Given the description of an element on the screen output the (x, y) to click on. 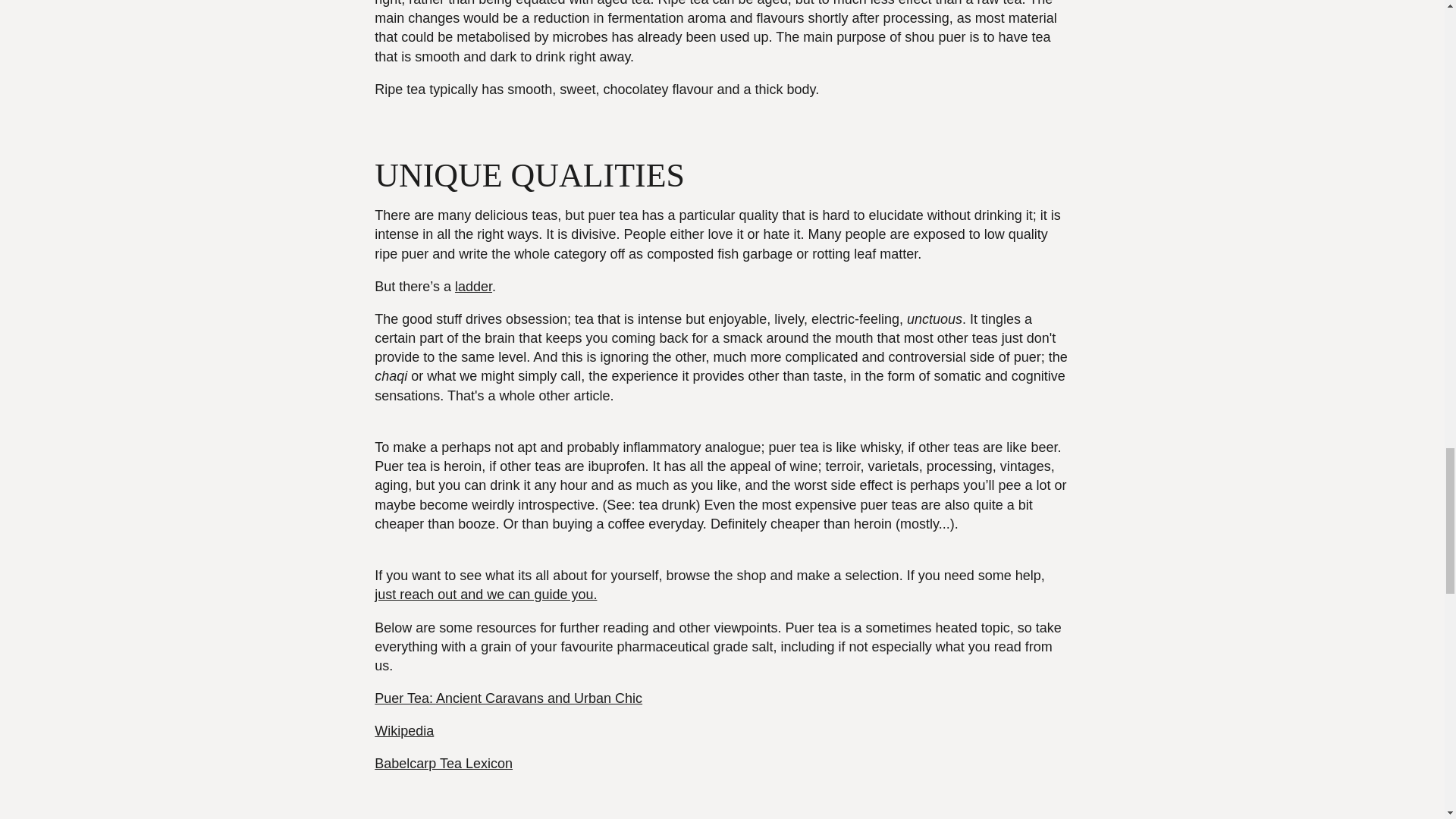
Puer Tea: Ancient Caravans and Urban Chic (508, 698)
just reach out and we can guide you. (485, 594)
ladder (473, 286)
Babelcarp Tea Lexicon (443, 763)
Wikipedia (403, 730)
